Given the description of an element on the screen output the (x, y) to click on. 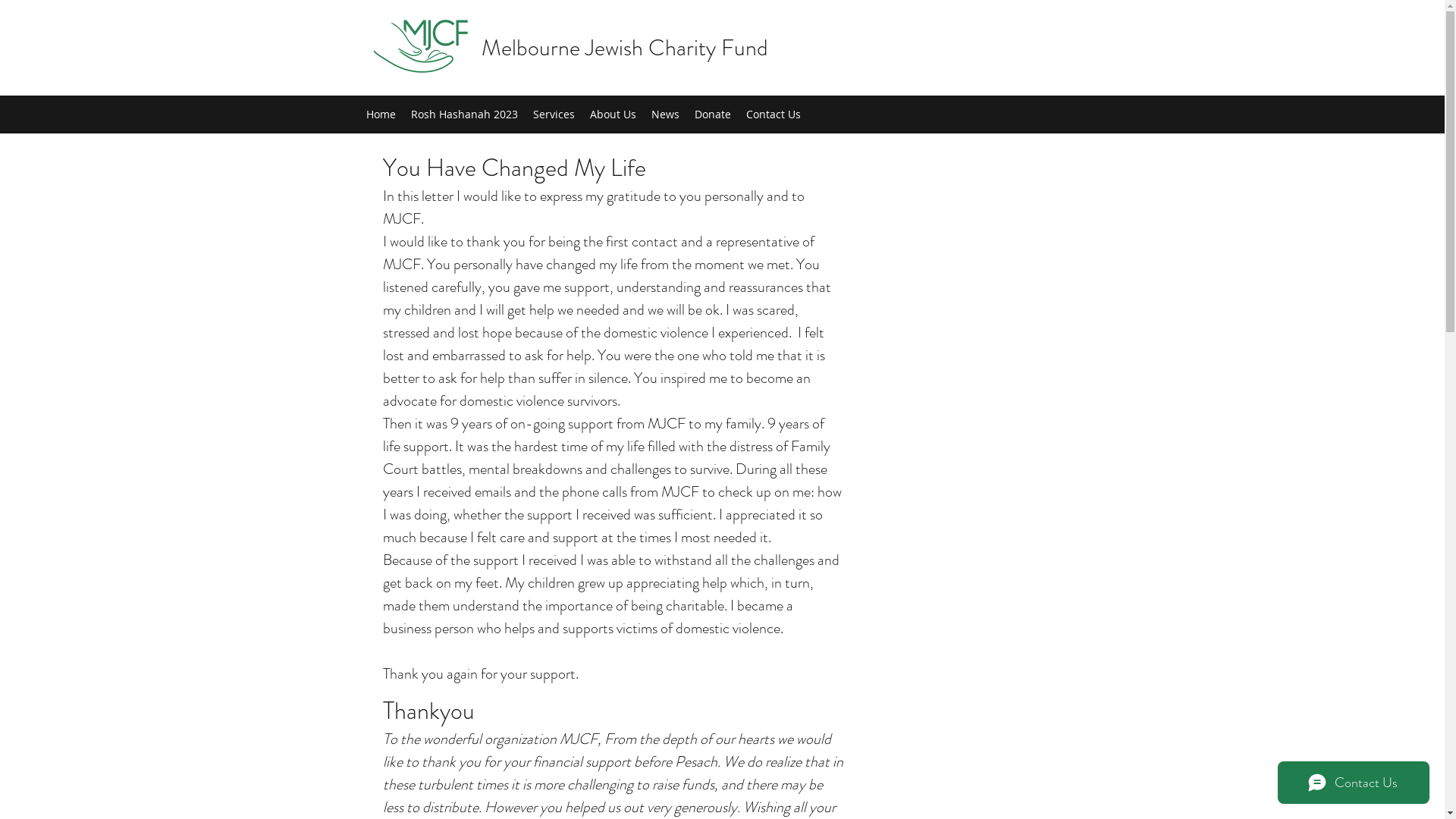
About Us Element type: text (612, 114)
Donate Element type: text (712, 114)
Services Element type: text (552, 114)
Contact Us Element type: text (773, 114)
Home Element type: text (379, 114)
News Element type: text (664, 114)
Rosh Hashanah 2023 Element type: text (464, 114)
